Given the description of an element on the screen output the (x, y) to click on. 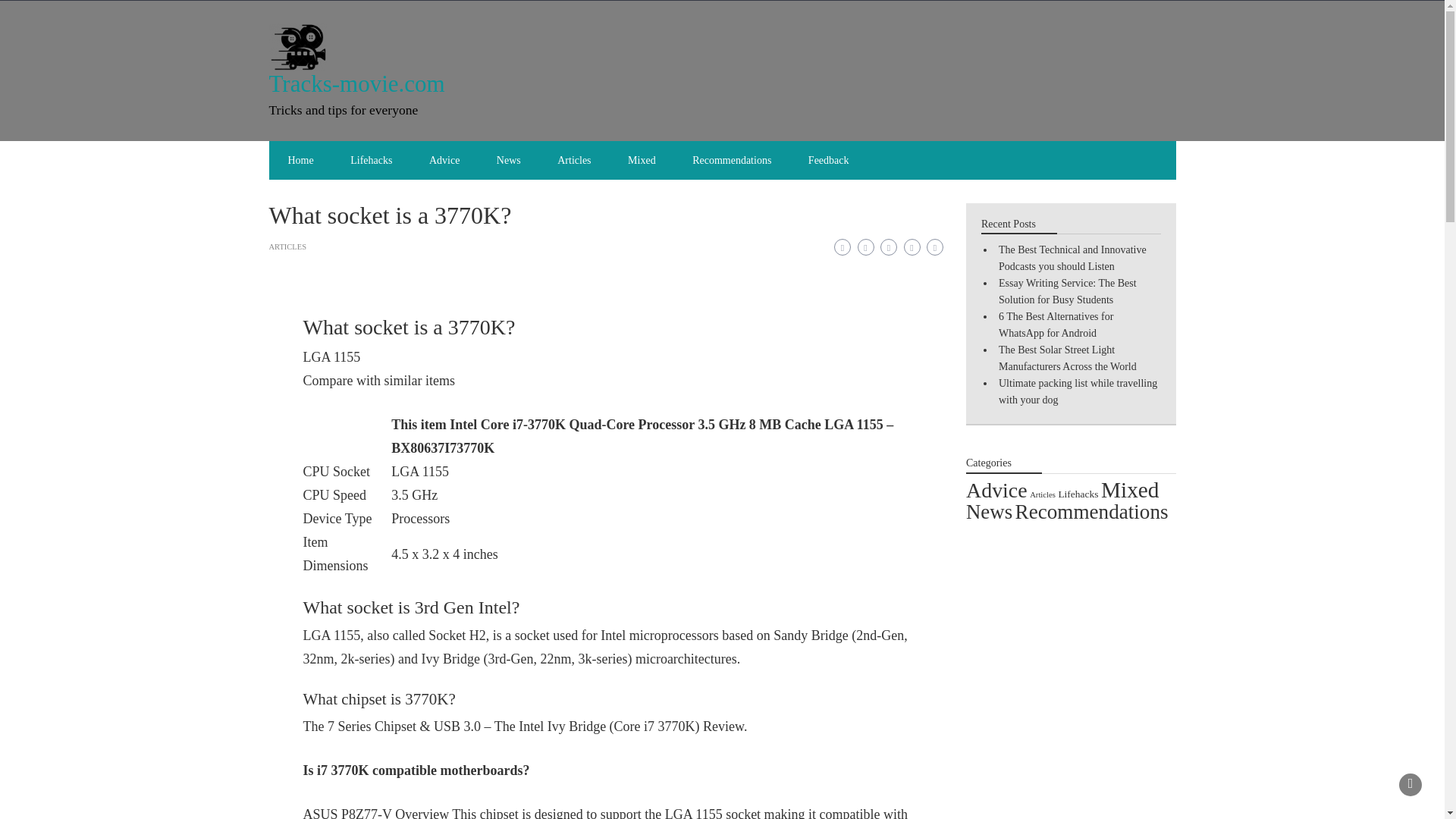
Advice (443, 159)
Tracks-movie.com (355, 83)
ARTICLES (286, 246)
Advice (996, 490)
Lifehacks (1077, 493)
The Best Technical and Innovative Podcasts you should Listen (1072, 257)
Mixed (641, 159)
Feedback (828, 159)
Articles (573, 159)
Essay Writing Service: The Best Solution for Busy Students (1067, 291)
